Given the description of an element on the screen output the (x, y) to click on. 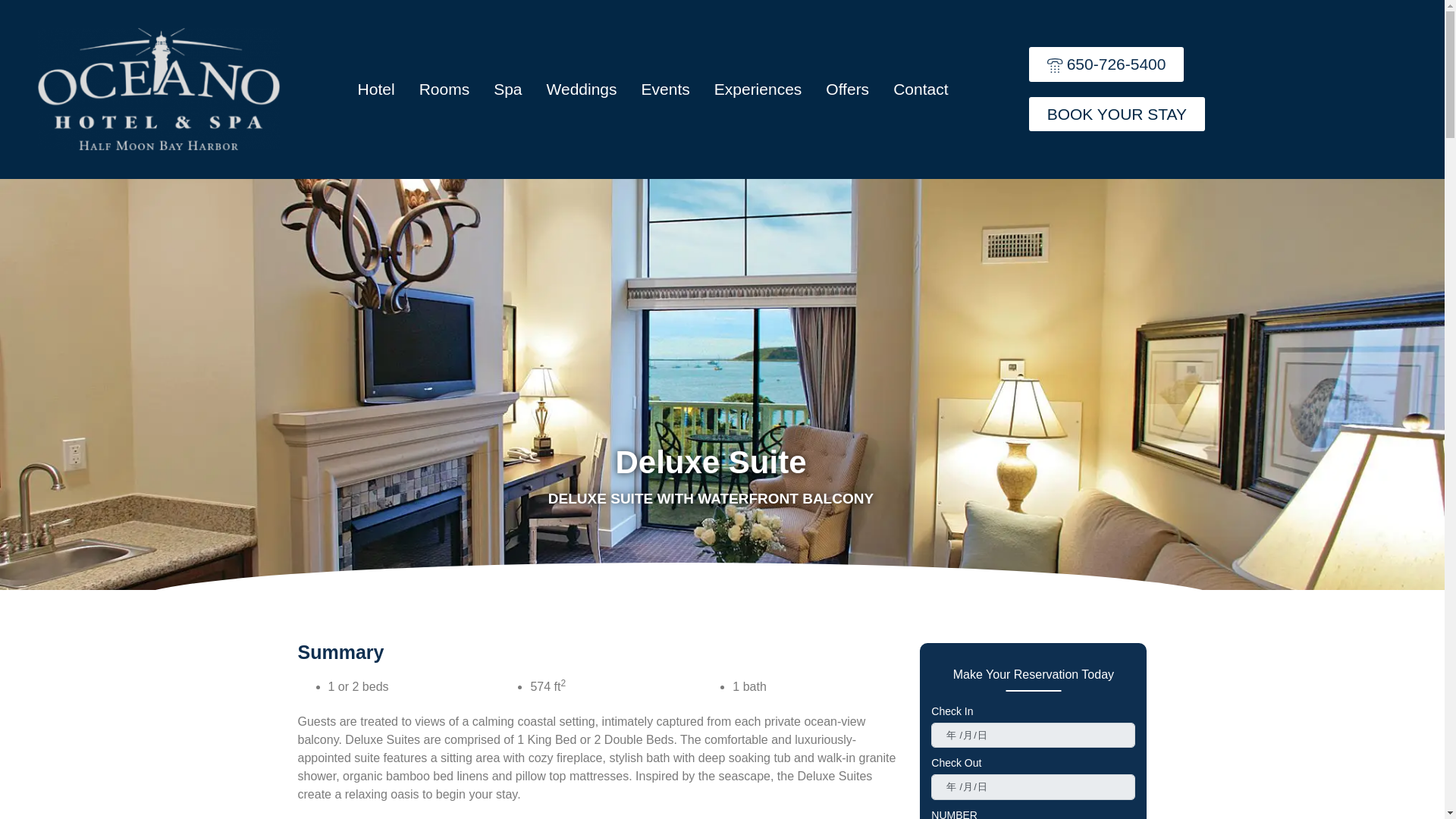
Hotel (388, 88)
Experiences (1107, 63)
BOOK YOUR STAY (770, 88)
Contact (1117, 114)
Offers (932, 88)
Rooms (859, 88)
Weddings (457, 88)
Spa (594, 88)
Events (519, 88)
phone-dialCreated with Sketch. (678, 88)
